Given the description of an element on the screen output the (x, y) to click on. 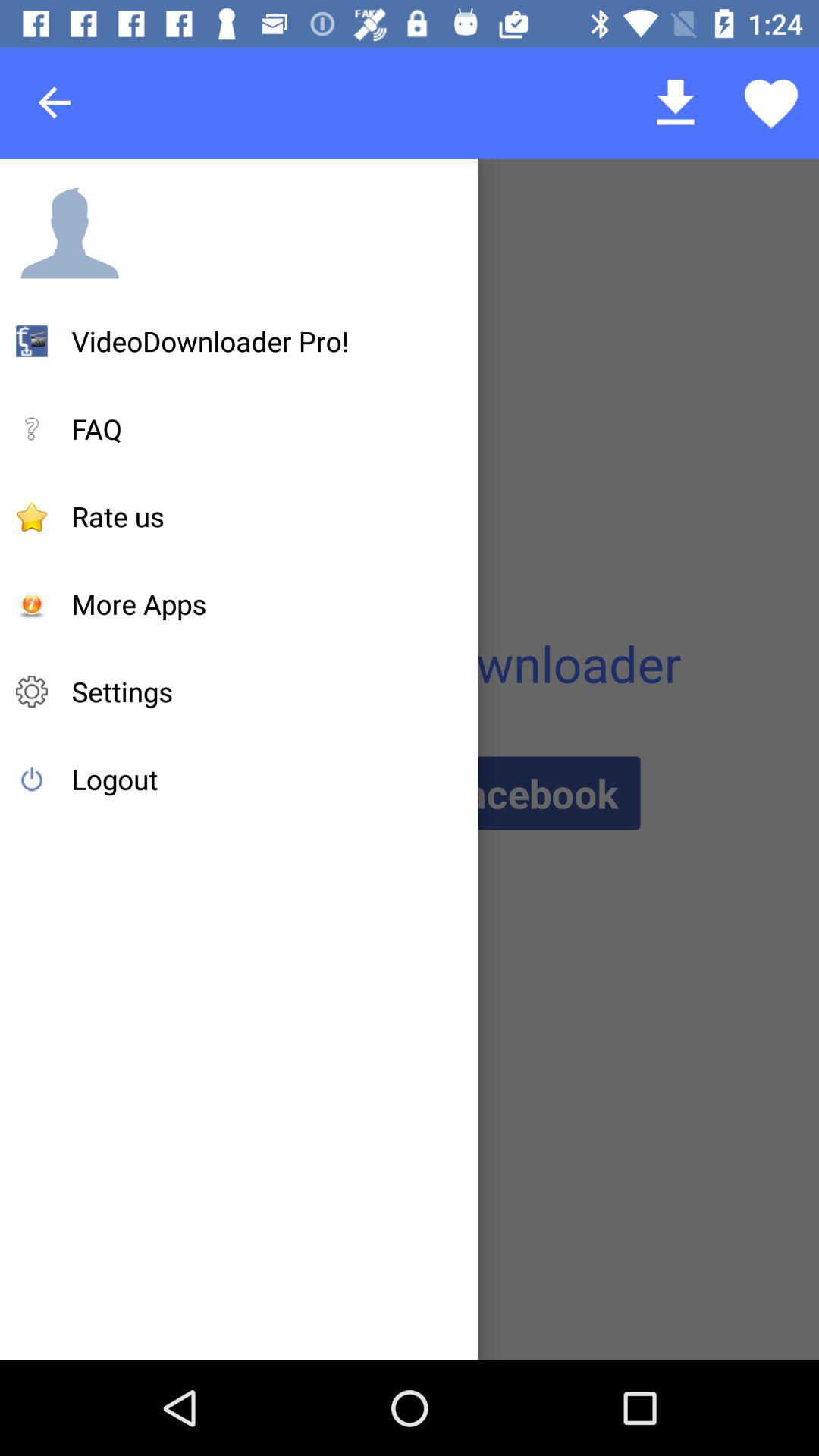
select the icon above faq (210, 340)
